Given the description of an element on the screen output the (x, y) to click on. 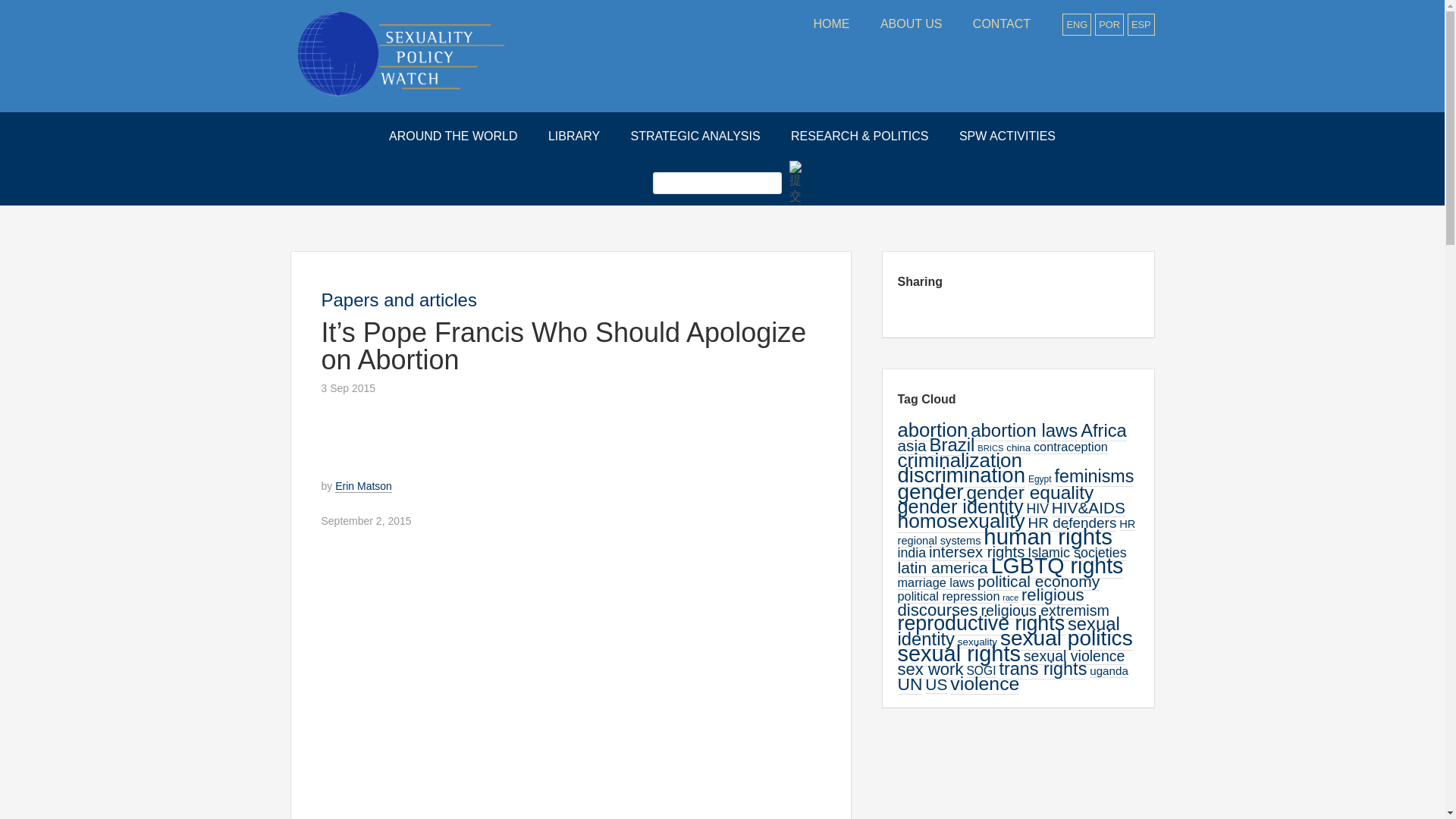
STRATEGIC ANALYSIS (695, 136)
SPW ACTIVITIES (1006, 136)
Papers and articles (399, 299)
ENG (1076, 24)
Erin Matson (362, 486)
AROUND THE WORLD (453, 136)
CONTACT (1001, 24)
POR (1109, 24)
HOME (831, 24)
ESP (1140, 24)
